Given the description of an element on the screen output the (x, y) to click on. 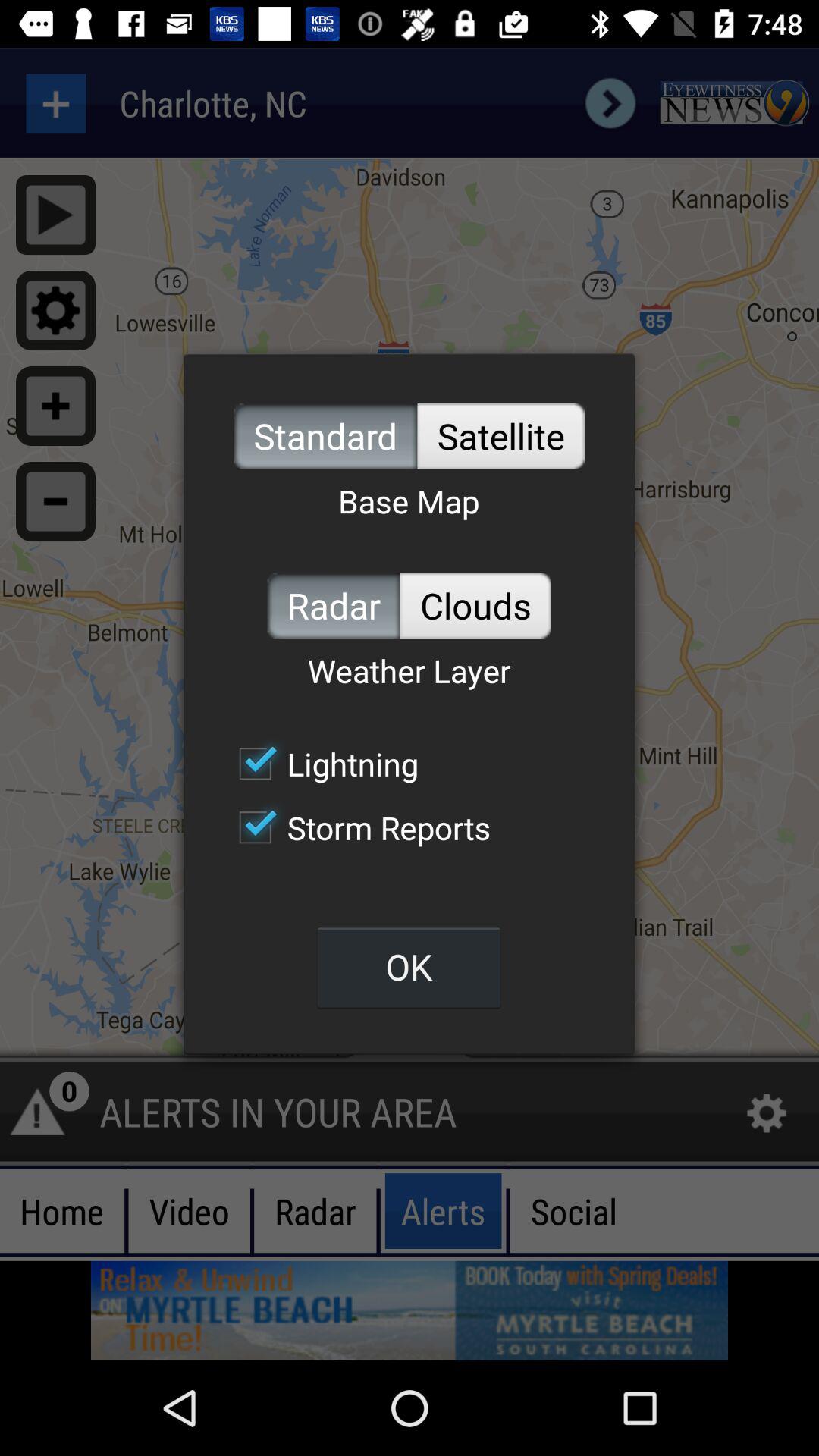
press ok (408, 966)
